Given the description of an element on the screen output the (x, y) to click on. 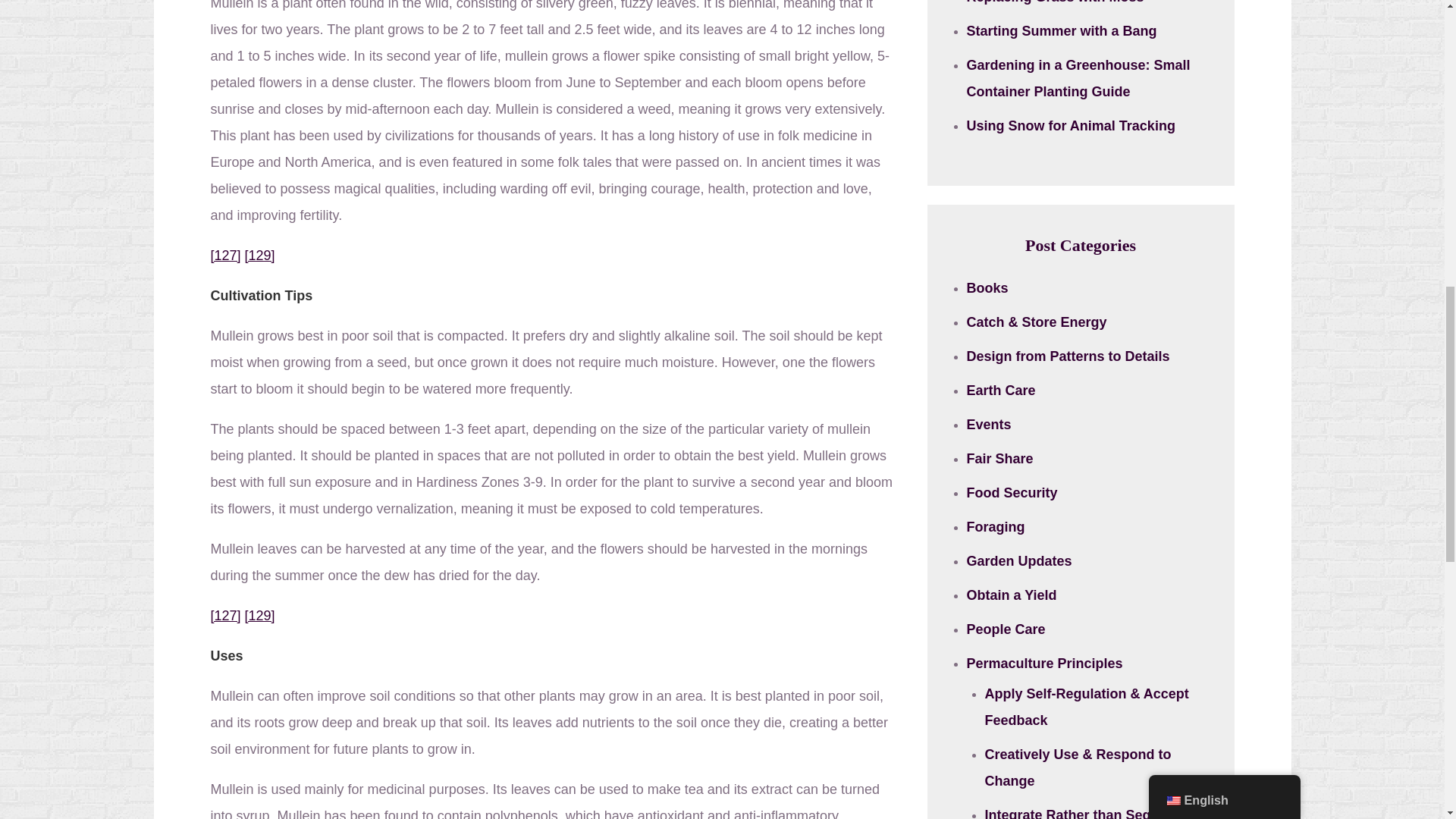
Gardening in a Greenhouse: Small Container Planting Guide (1077, 78)
Replacing Grass with Moss (1054, 2)
Books (986, 287)
Using Snow for Animal Tracking (1070, 125)
Starting Summer with a Bang (1061, 30)
